Given the description of an element on the screen output the (x, y) to click on. 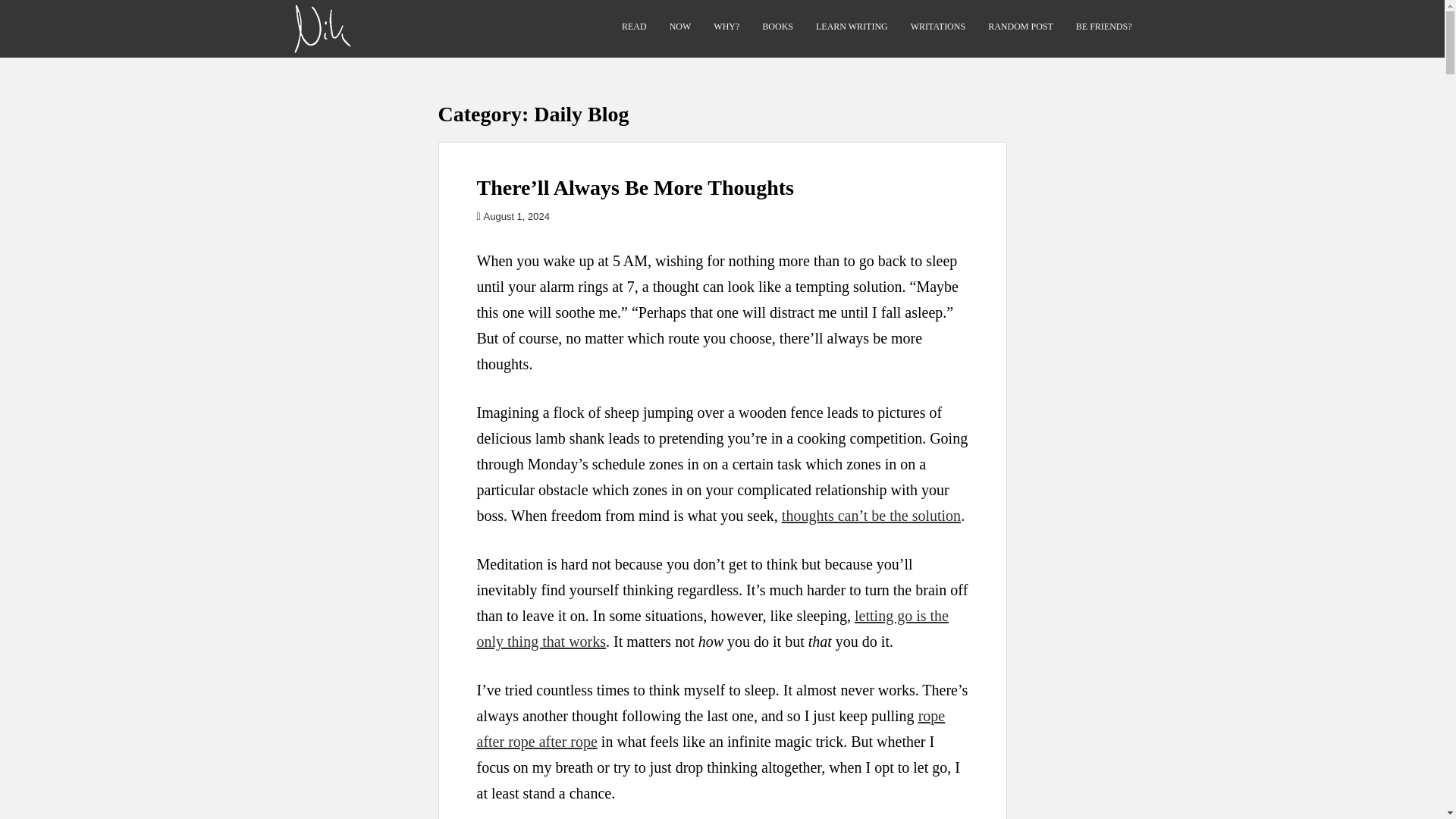
letting go is the only thing that works (711, 628)
WRITATIONS (938, 26)
BE FRIENDS? (1103, 26)
BOOKS (777, 26)
LEARN WRITING (851, 26)
rope after rope after rope (710, 728)
RANDOM POST (1020, 26)
August 1, 2024 (516, 215)
